Given the description of an element on the screen output the (x, y) to click on. 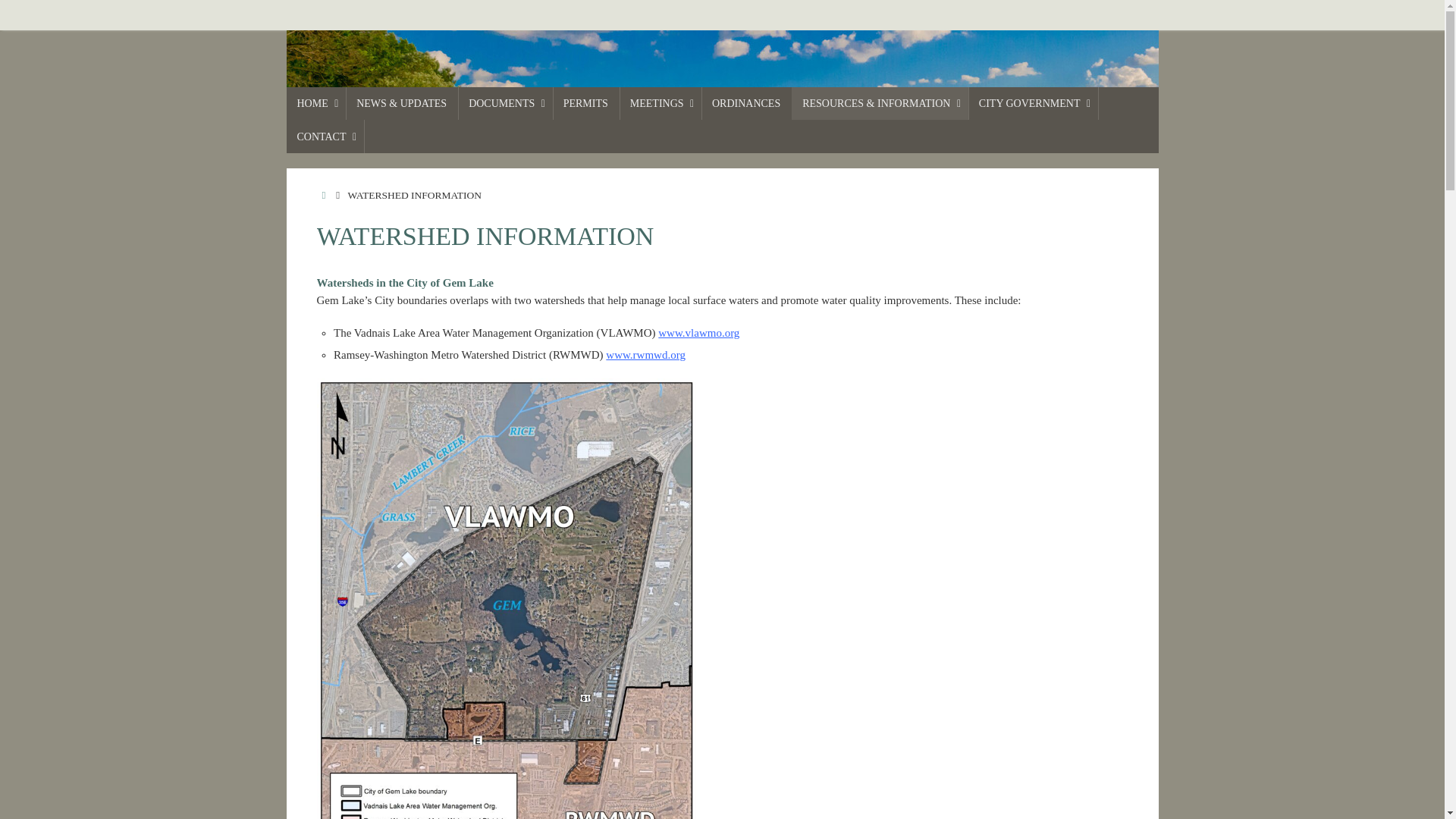
MEETINGS (660, 102)
www.rwmwd.org (645, 354)
CONTACT (325, 135)
HOME (324, 194)
ORDINANCES (746, 102)
DOCUMENTS (505, 102)
CITY GOVERNMENT (1032, 102)
www.vlawmo.org (698, 332)
PERMITS (586, 102)
HOME (316, 102)
